Given the description of an element on the screen output the (x, y) to click on. 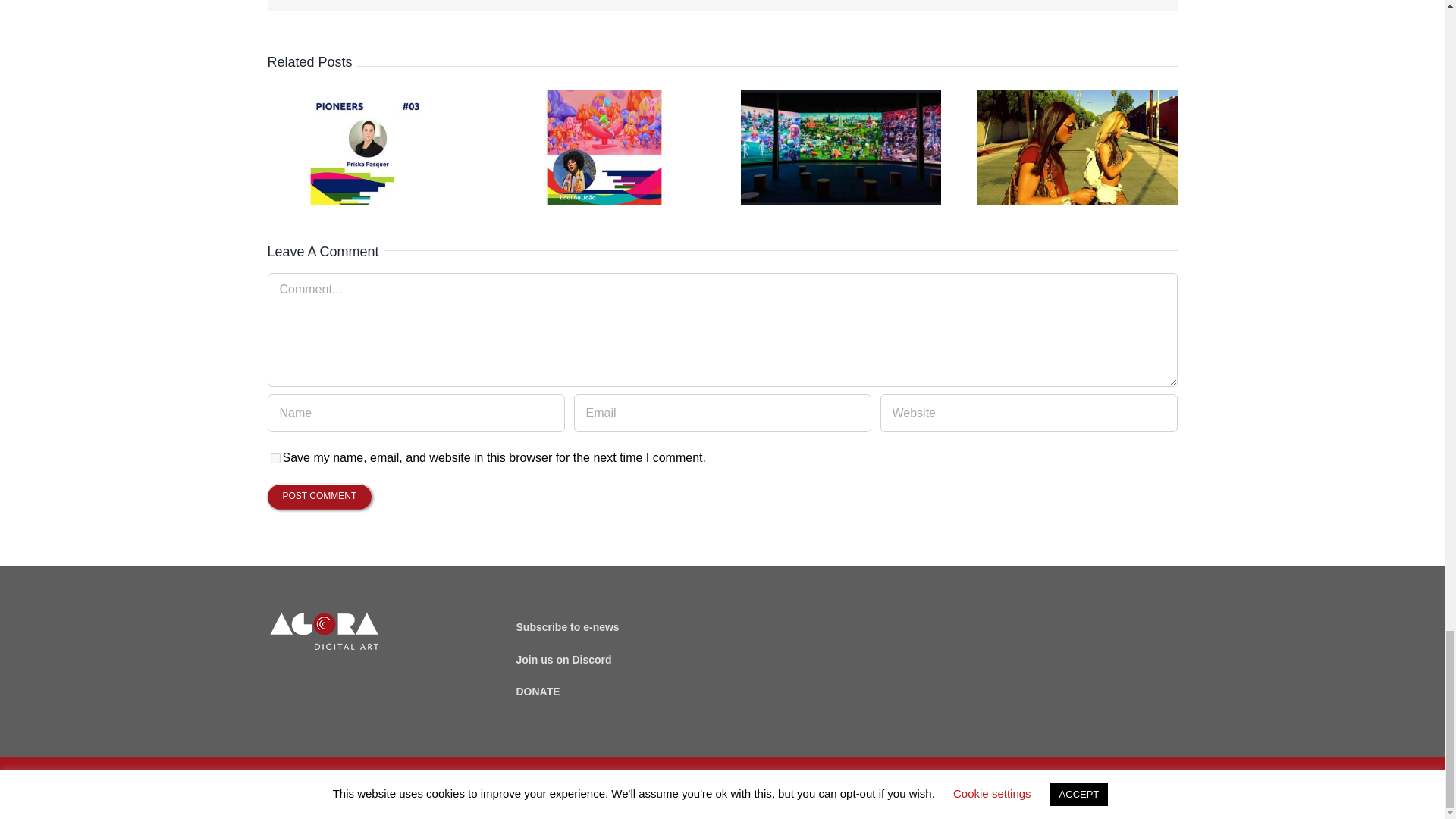
Post Comment (318, 495)
yes (274, 458)
